Given the description of an element on the screen output the (x, y) to click on. 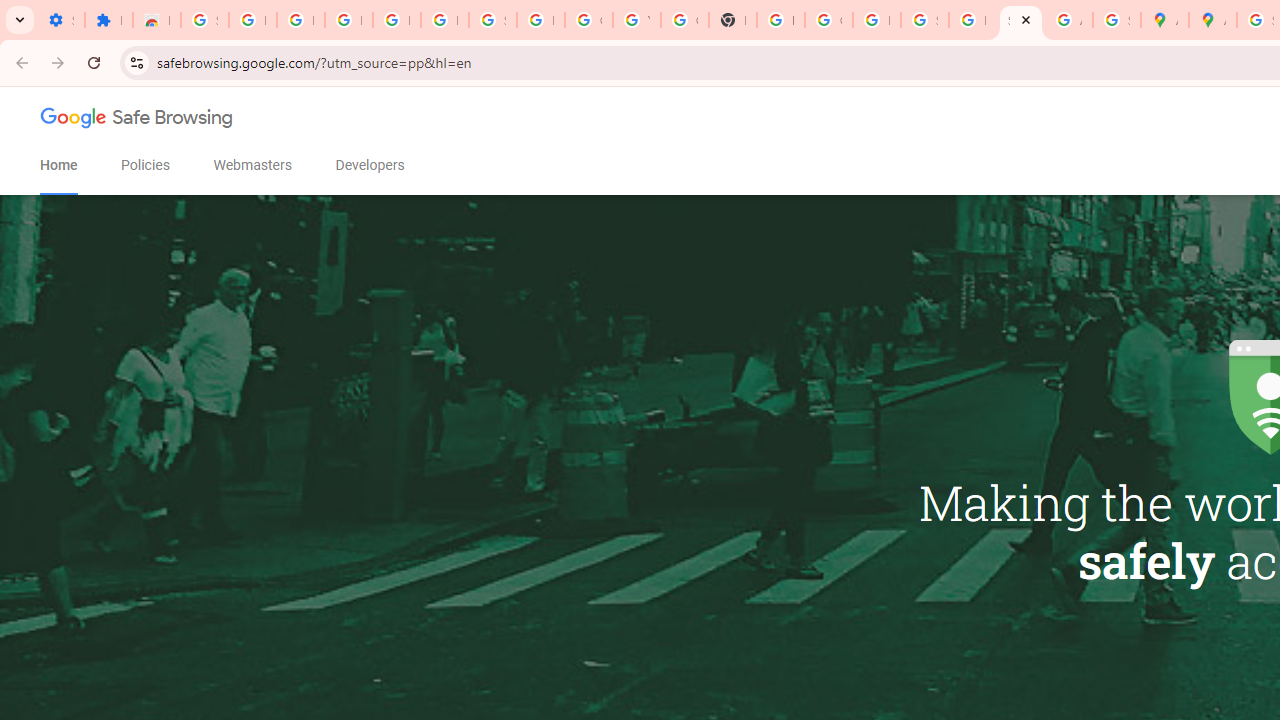
Sign in - Google Accounts (204, 20)
Google Account (588, 20)
